Given the description of an element on the screen output the (x, y) to click on. 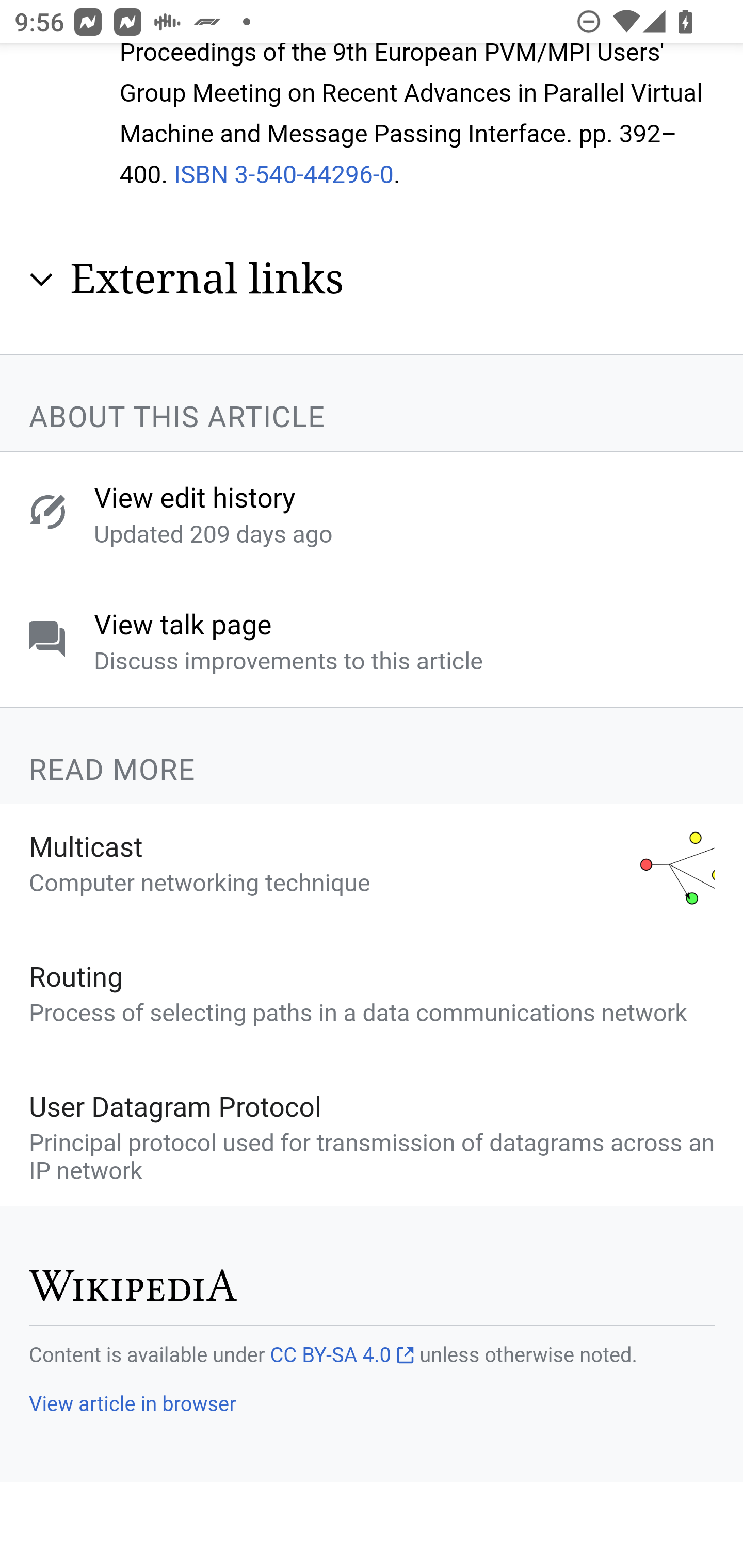
ISBN (200, 173)
3-540-44296-0 (313, 173)
Expand section External links (372, 279)
Expand section (41, 279)
CC BY-SA 4.0 (341, 1355)
View article in browser (132, 1403)
